Given the description of an element on the screen output the (x, y) to click on. 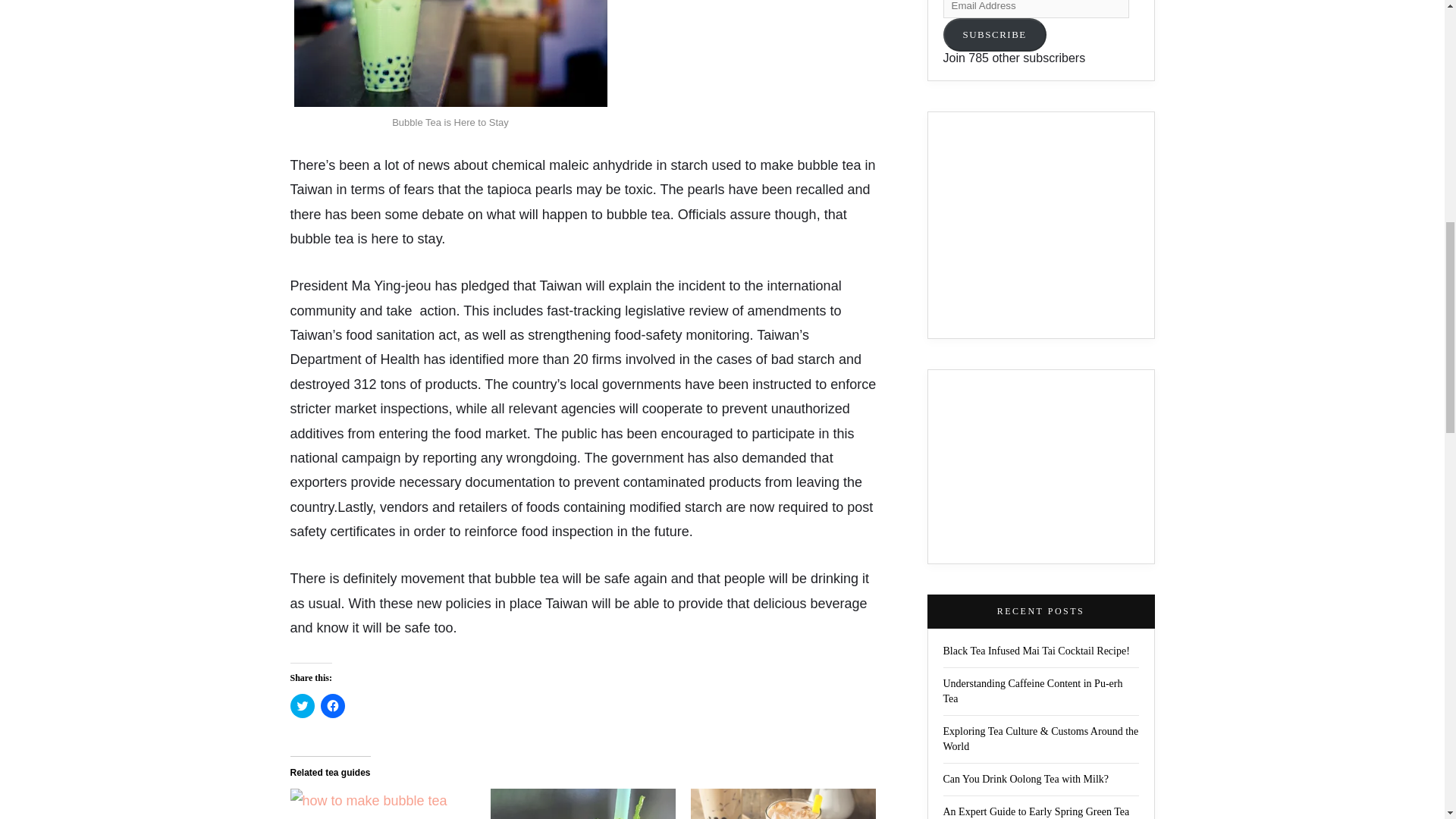
How To Easily Make Bubble Tea At Home (381, 803)
Bubble Tea Museum In Taichung (582, 803)
Click to share on Twitter (301, 705)
Click to share on Facebook (331, 705)
